Given the description of an element on the screen output the (x, y) to click on. 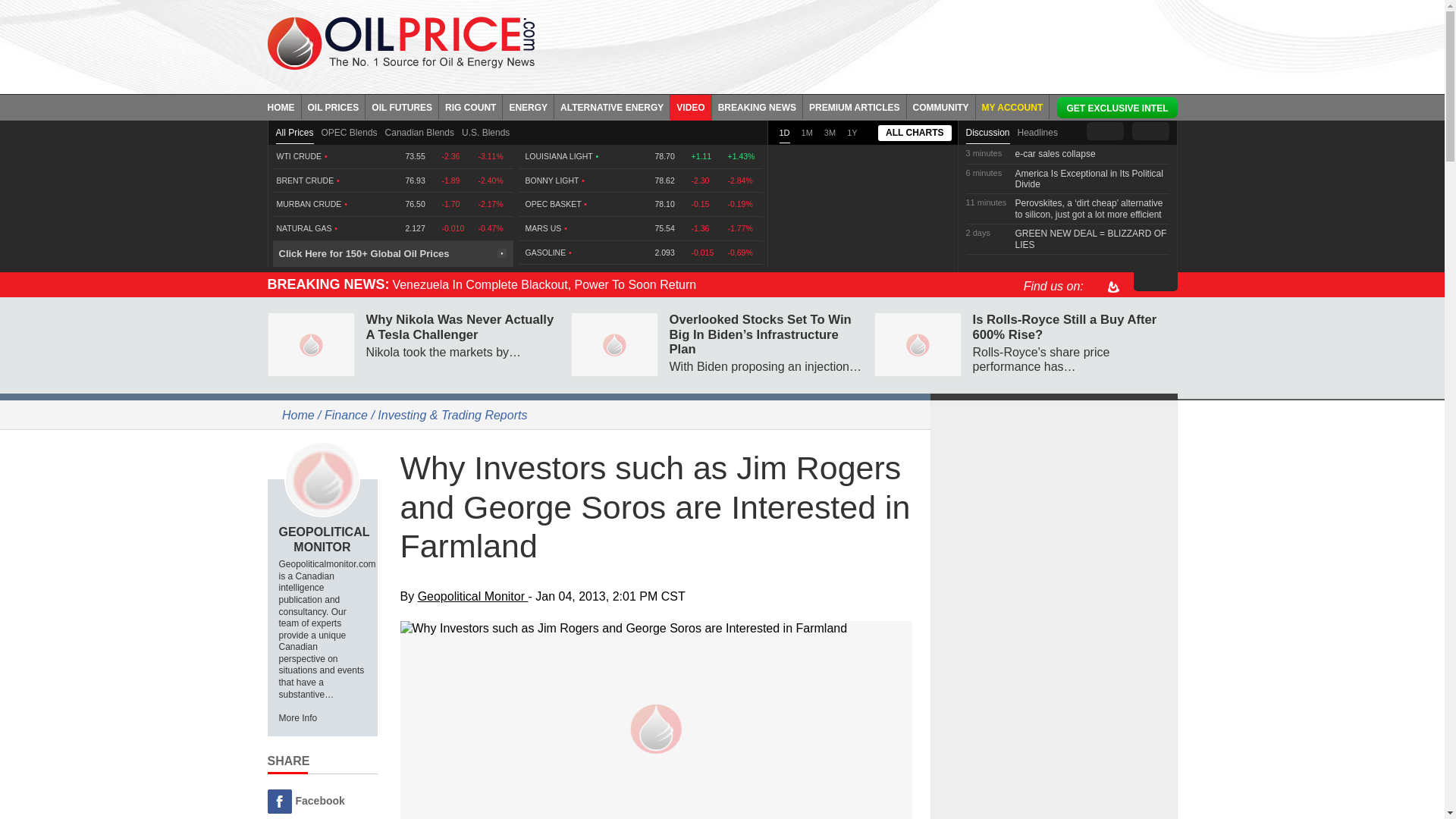
PREMIUM ARTICLES (855, 106)
Geopolitical Monitor  (321, 478)
MY ACCOUNT (1012, 106)
RIG COUNT (470, 106)
OIL FUTURES (402, 106)
VIDEO (690, 106)
ALTERNATIVE ENERGY (611, 106)
HOME (283, 106)
Oil prices - Oilprice.com (400, 42)
